Given the description of an element on the screen output the (x, y) to click on. 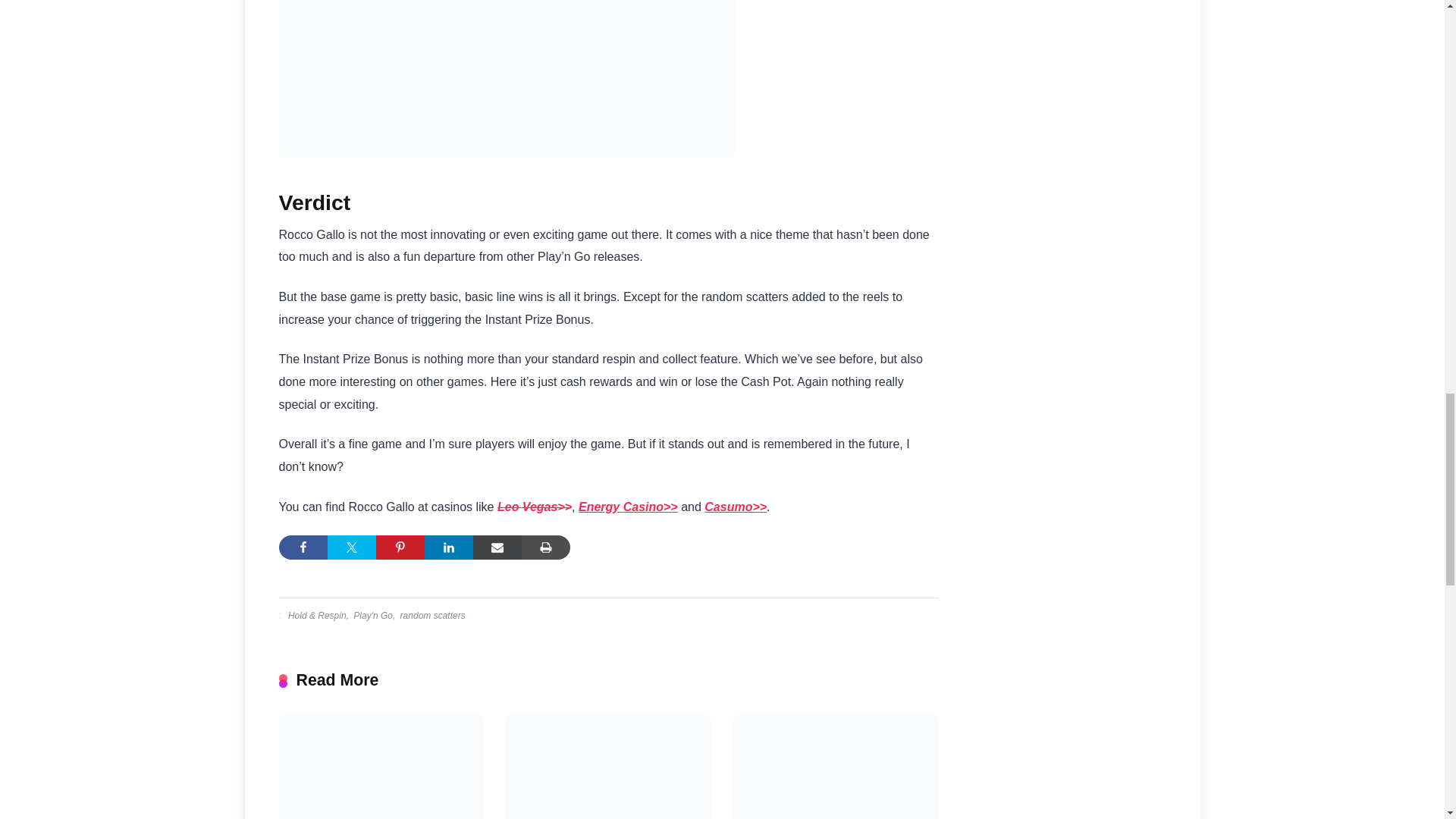
Share on Facebook (303, 547)
New by Pragmatic Play, Gem Elevator slot (607, 766)
Big Bam-Book, new slot from Push Gaming (381, 766)
random scatters (431, 615)
Share on LinkedIn (449, 547)
Print this Page (545, 547)
Play'n Go (371, 615)
Share on Twitter (351, 547)
Share via Email (497, 547)
Share on Pinterest (400, 547)
